Given the description of an element on the screen output the (x, y) to click on. 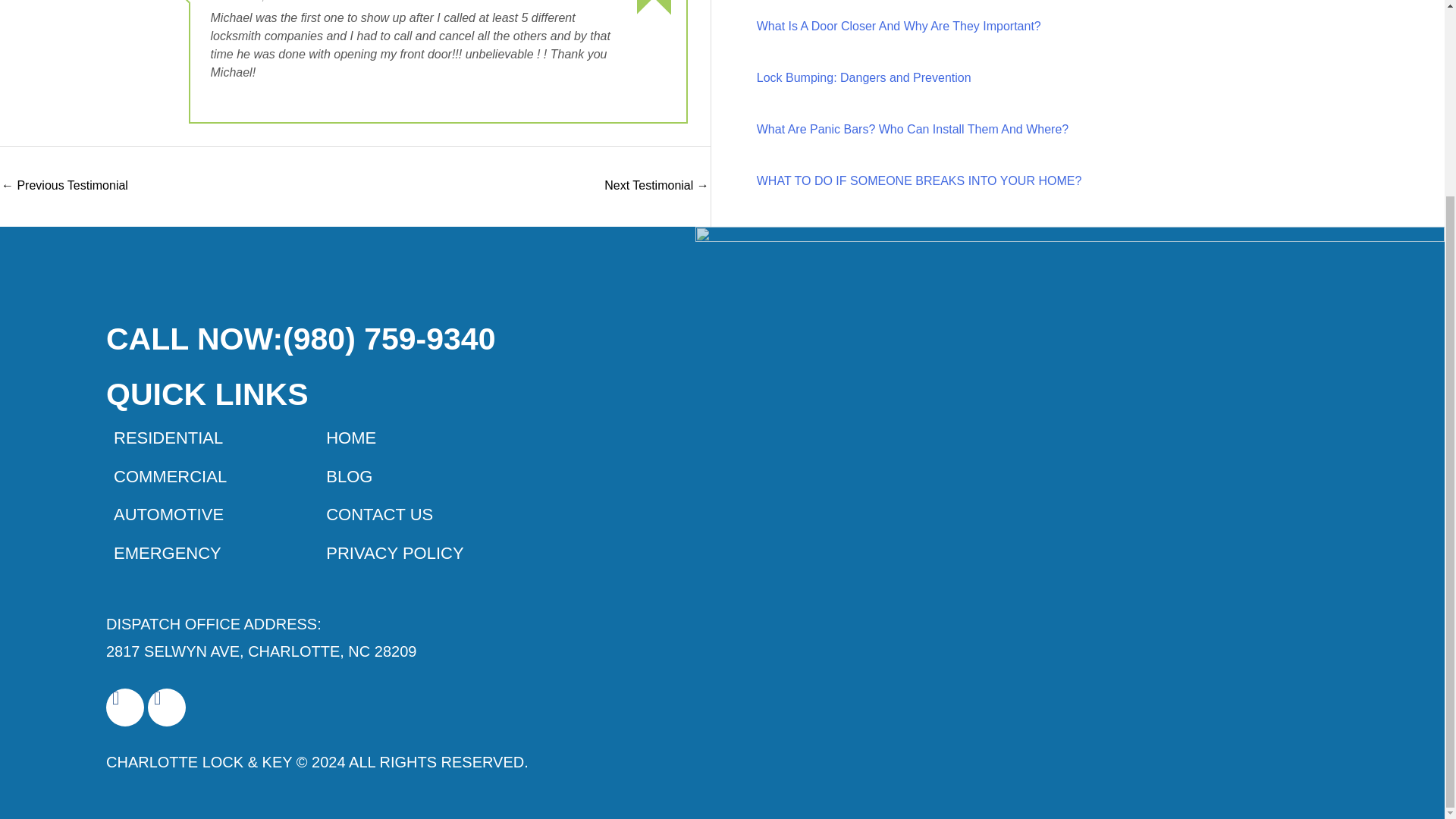
Lock Bumping: Dangers and Prevention (864, 77)
What Is A Door Closer And Why Are They Important? (899, 25)
What Are Panic Bars? Who Can Install Them And Where? (912, 128)
